Given the description of an element on the screen output the (x, y) to click on. 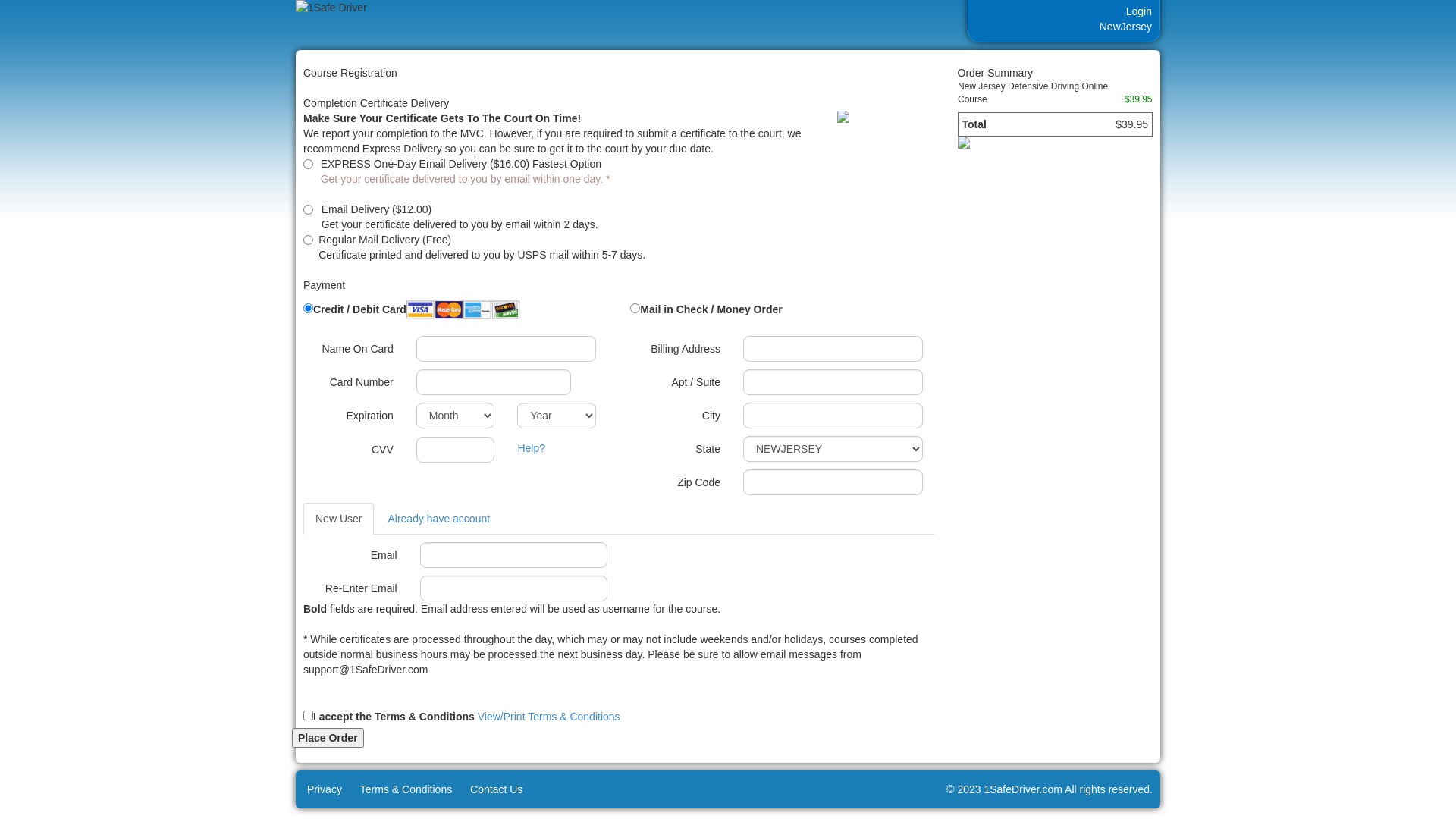
rbtnEmailDel Element type: text (308, 209)
Privacy Element type: text (320, 789)
Help? Element type: text (531, 448)
rbtnExpEmailDel Element type: text (308, 164)
View/Print Terms & Conditions Element type: text (548, 716)
Login Element type: text (1134, 10)
Place Order Element type: text (327, 737)
Contact Us Element type: text (492, 789)
Terms & Conditions Element type: text (401, 789)
rbtnMailInCheck Element type: text (635, 308)
New User Element type: text (338, 518)
rbtnUSPS Element type: text (308, 239)
Already have account Element type: text (438, 518)
